Given the description of an element on the screen output the (x, y) to click on. 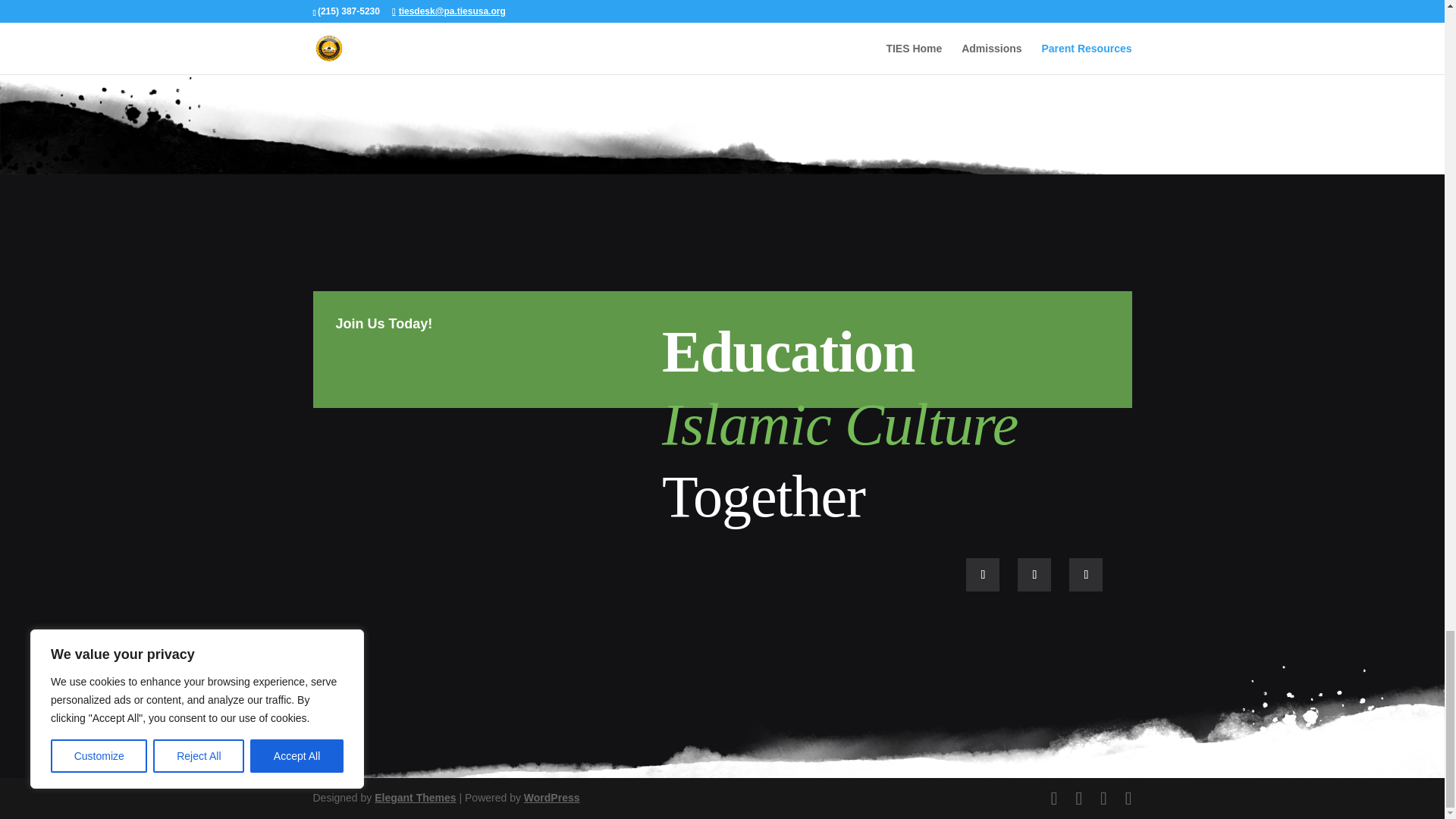
Follow on Instagram (1085, 574)
Follow on Twitter (1034, 574)
Follow on Facebook (982, 574)
Premium WordPress Themes (414, 797)
WordPress (551, 797)
Elegant Themes (414, 797)
